Given the description of an element on the screen output the (x, y) to click on. 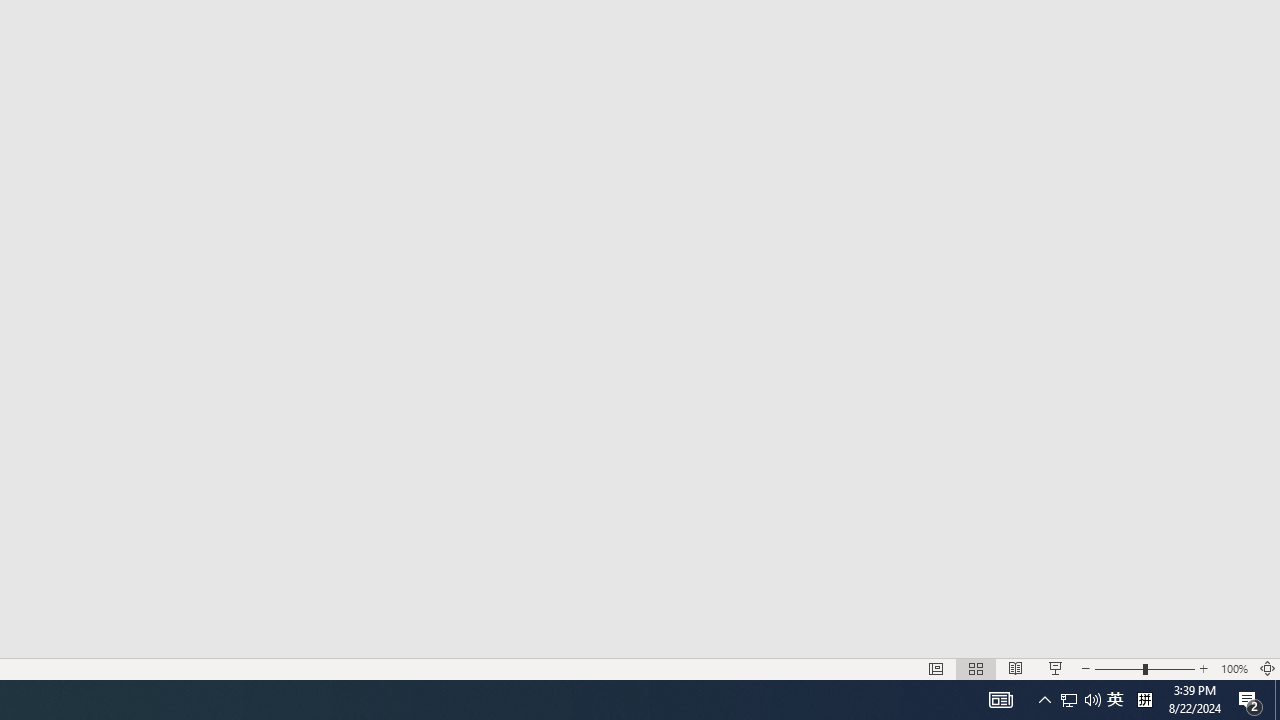
Zoom 100% (1234, 668)
